Given the description of an element on the screen output the (x, y) to click on. 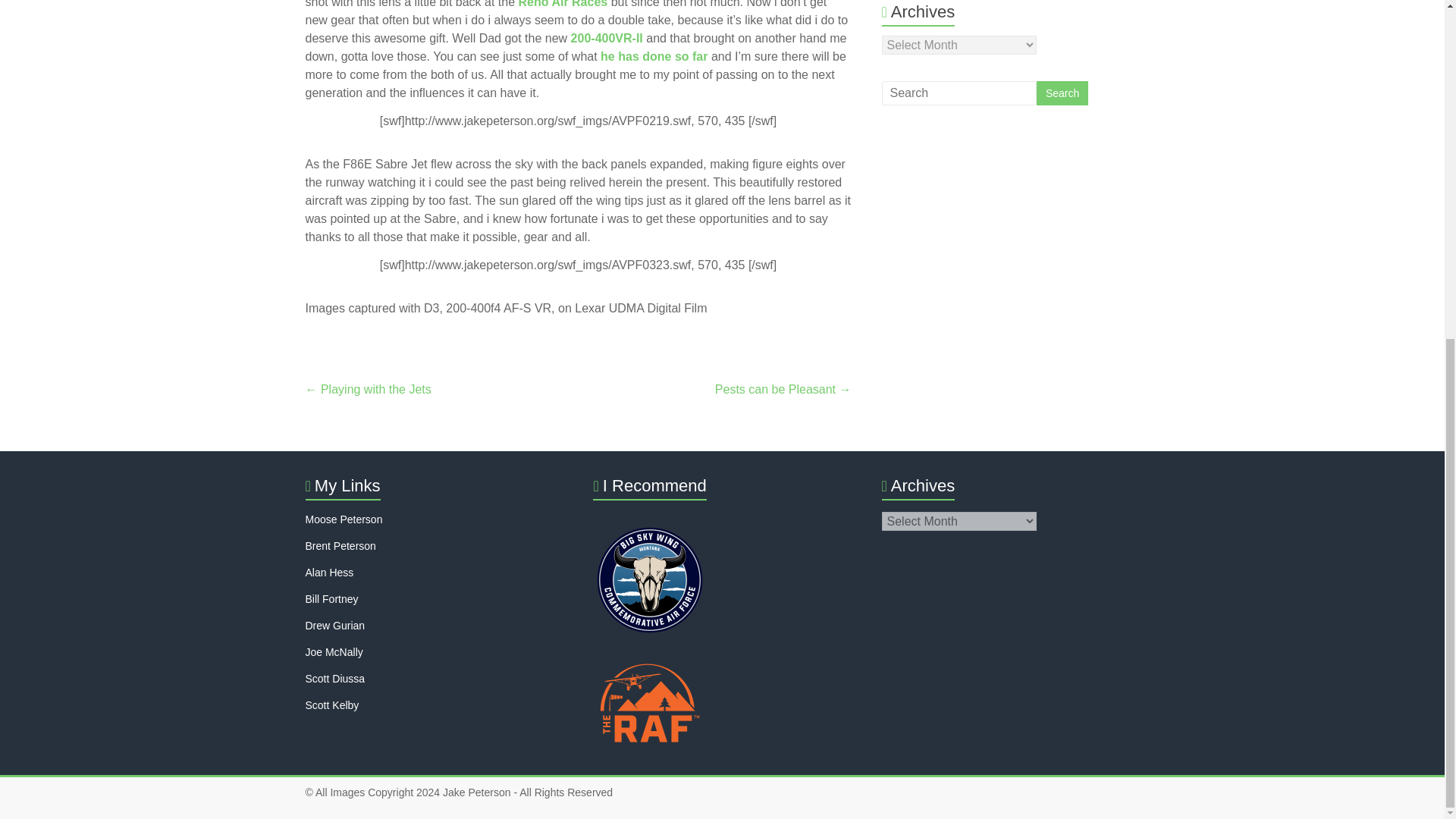
Search (1061, 93)
200-400VR-II (606, 38)
Moose Peterson (342, 519)
he has done so far (653, 56)
Search (1061, 93)
Reno Air Races (563, 4)
Brent Peterson (339, 545)
